Given the description of an element on the screen output the (x, y) to click on. 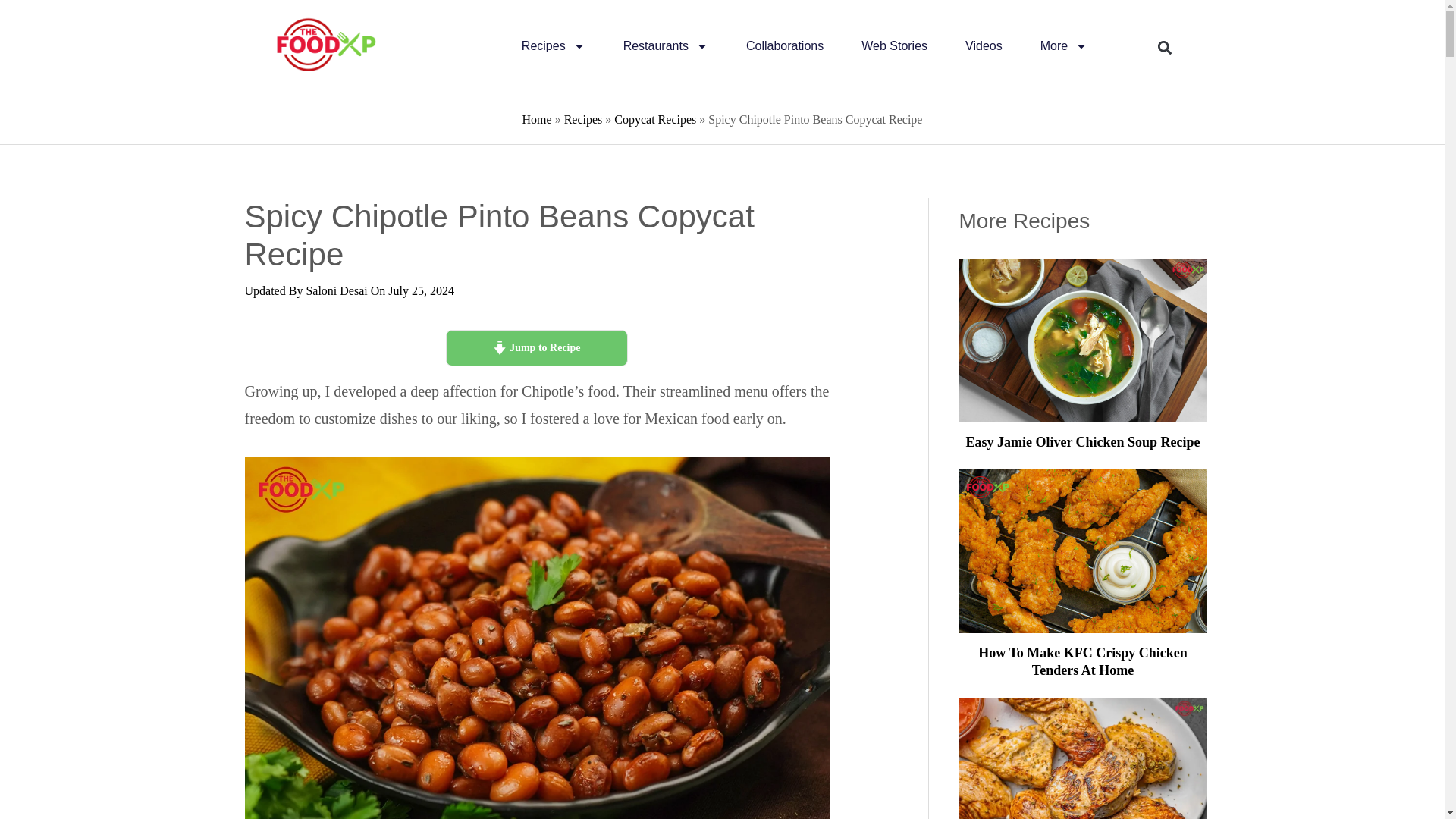
More (1064, 45)
Jump to Recipe (536, 348)
Collaborations (784, 45)
Videos (984, 45)
Restaurants (665, 45)
Web Stories (894, 45)
Recipes (553, 45)
